Given the description of an element on the screen output the (x, y) to click on. 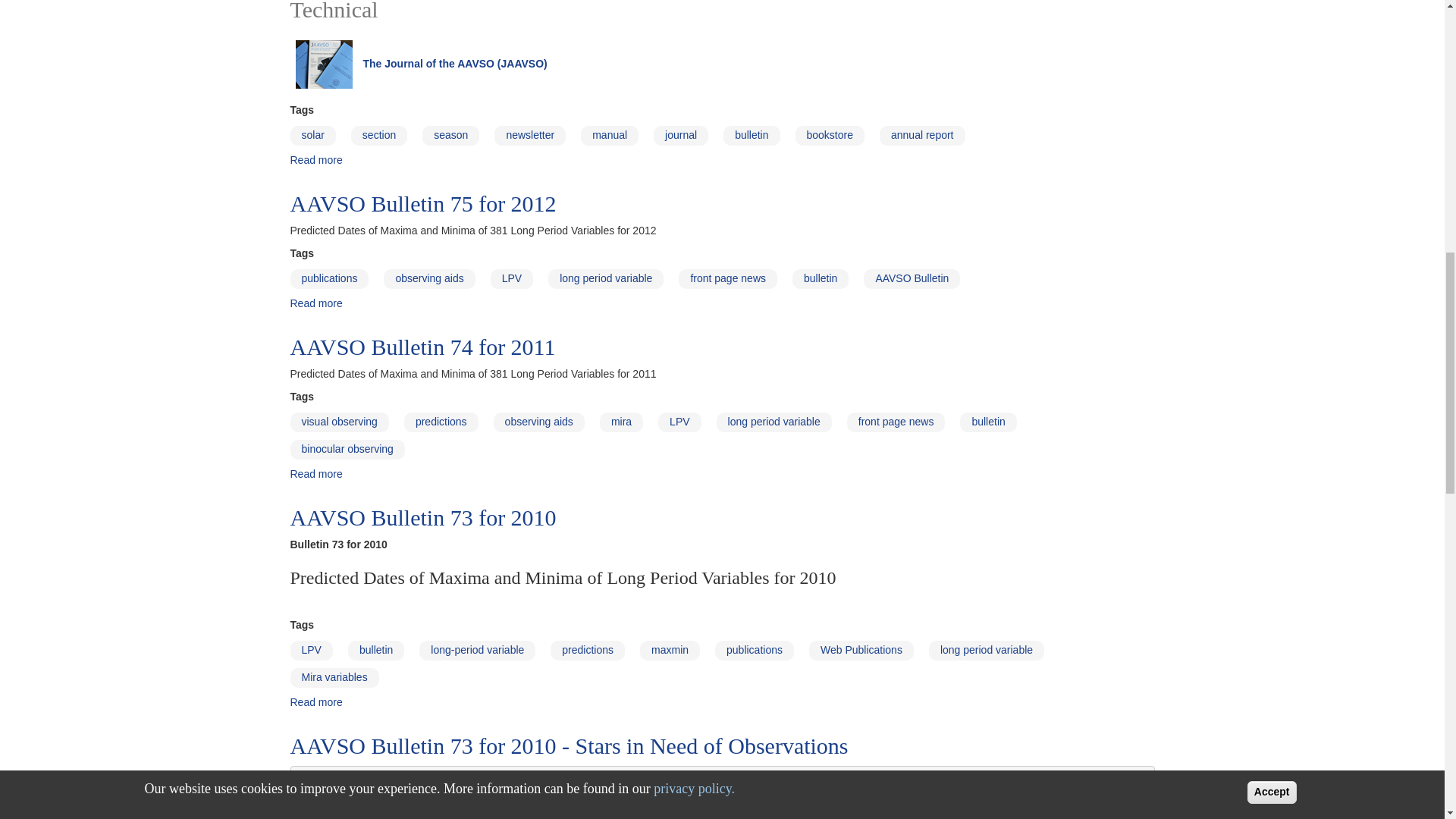
Publications (315, 159)
AAVSO Bulletin 74 for 2011 (315, 473)
AAVSO Bulletin 75 for 2012 (315, 303)
AAVSO Bulletin 73 for 2010 (315, 702)
